Given the description of an element on the screen output the (x, y) to click on. 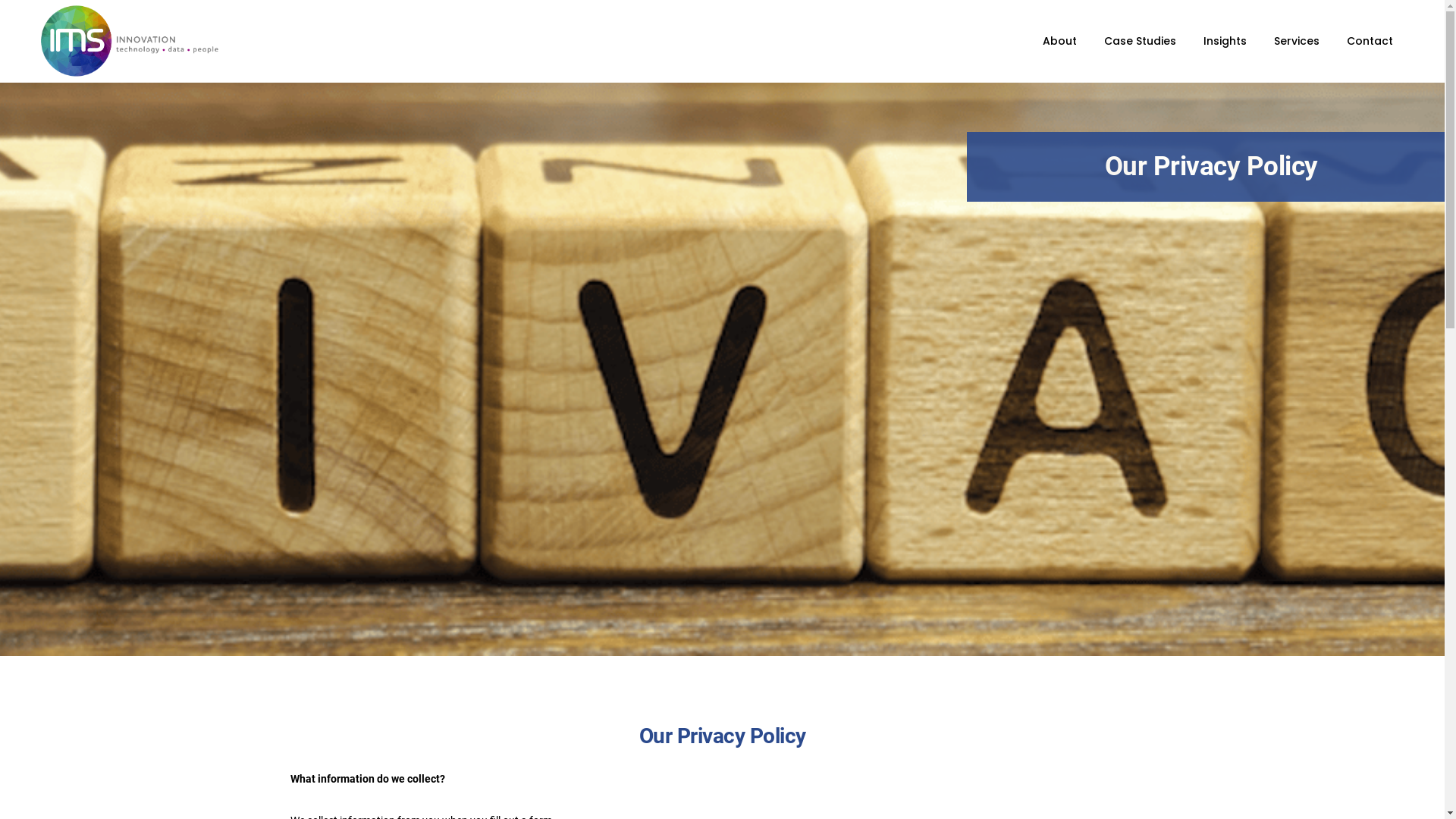
Services Element type: text (1296, 40)
About Element type: text (1059, 40)
Contact Element type: text (1369, 40)
Case Studies Element type: text (1140, 40)
Insights Element type: text (1224, 40)
